Given the description of an element on the screen output the (x, y) to click on. 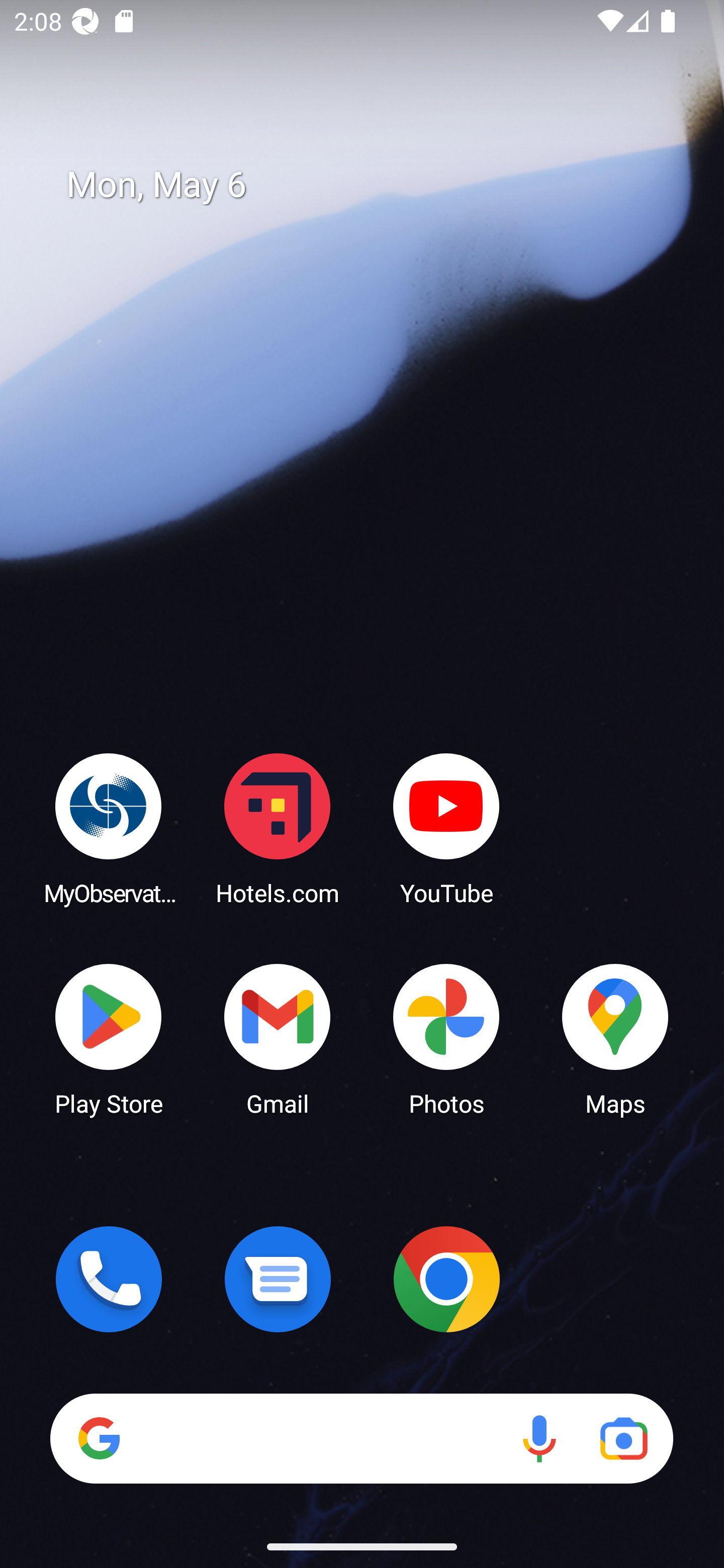
Mon, May 6 (375, 184)
MyObservatory (108, 828)
Hotels.com (277, 828)
YouTube (445, 828)
Play Store (108, 1038)
Gmail (277, 1038)
Photos (445, 1038)
Maps (615, 1038)
Phone (108, 1279)
Messages (277, 1279)
Chrome (446, 1279)
Search Voice search Google Lens (361, 1438)
Voice search (539, 1438)
Google Lens (623, 1438)
